Given the description of an element on the screen output the (x, y) to click on. 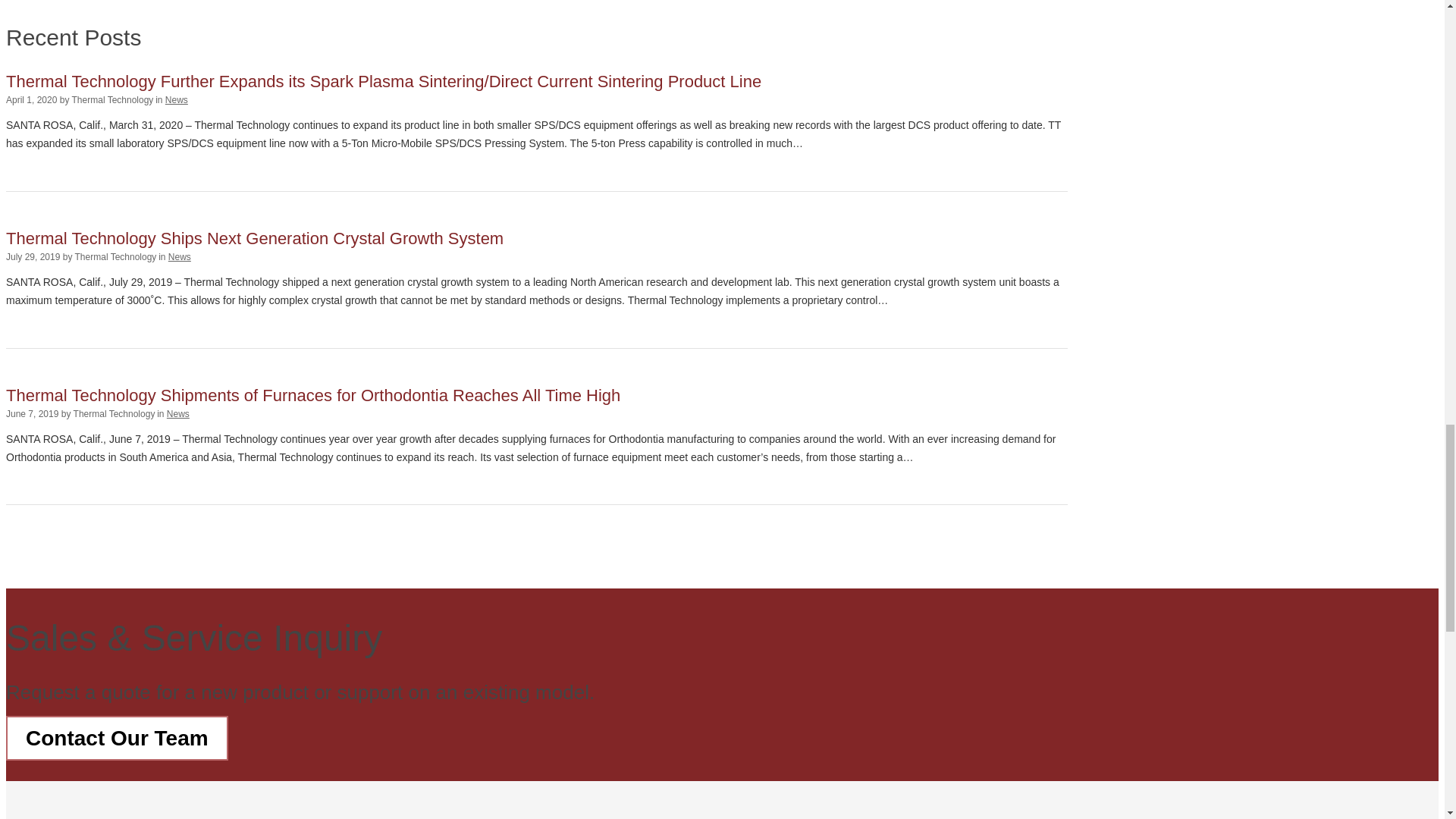
Contact Our Team (116, 737)
News (178, 413)
News (179, 256)
News (176, 100)
